Given the description of an element on the screen output the (x, y) to click on. 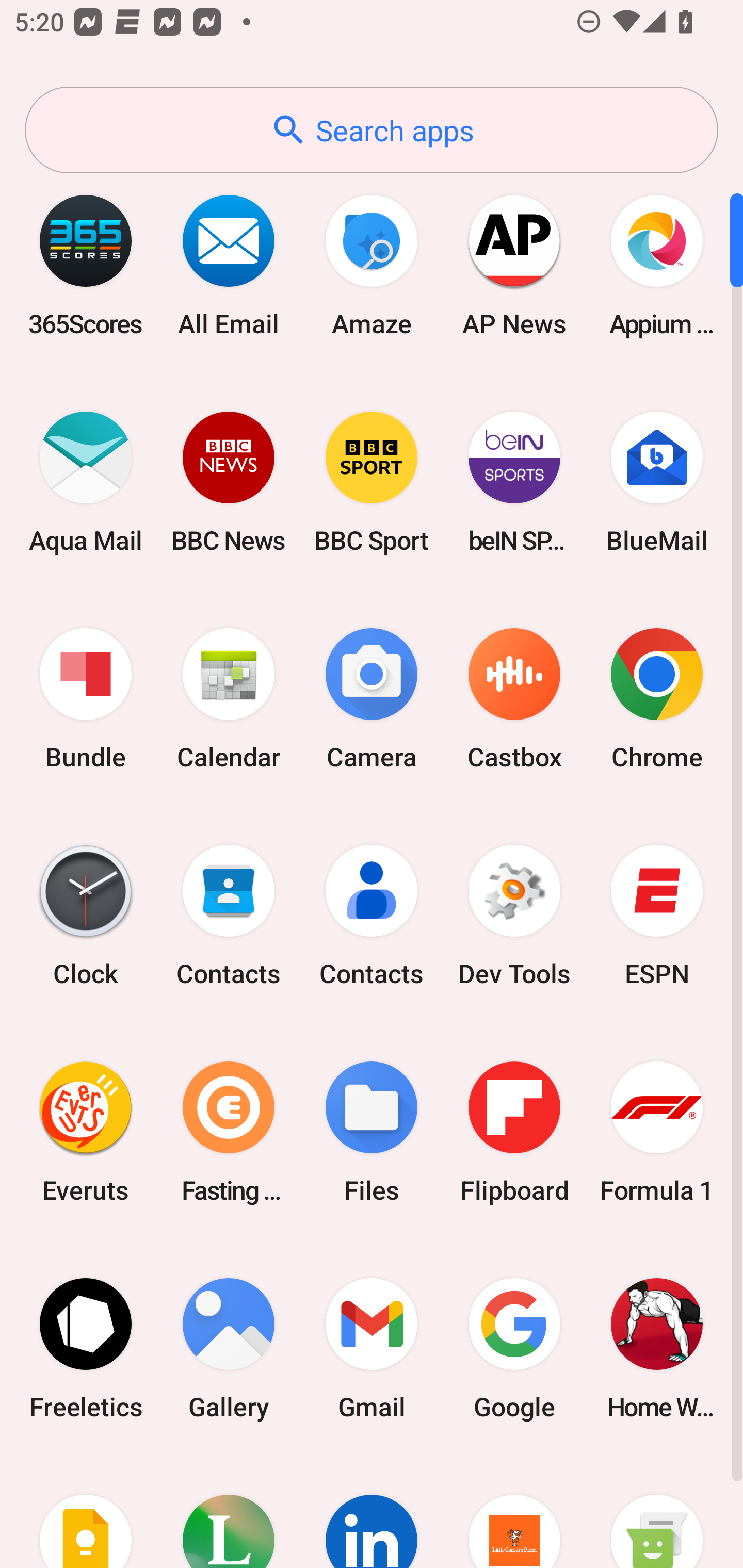
  Search apps (371, 130)
365Scores (85, 264)
All Email (228, 264)
Amaze (371, 264)
AP News (514, 264)
Appium Settings (656, 264)
Aqua Mail (85, 482)
BBC News (228, 482)
BBC Sport (371, 482)
beIN SPORTS (514, 482)
BlueMail (656, 482)
Bundle (85, 699)
Calendar (228, 699)
Camera (371, 699)
Castbox (514, 699)
Chrome (656, 699)
Clock (85, 915)
Contacts (228, 915)
Contacts (371, 915)
Dev Tools (514, 915)
ESPN (656, 915)
Everuts (85, 1131)
Fasting Coach (228, 1131)
Files (371, 1131)
Flipboard (514, 1131)
Formula 1 (656, 1131)
Freeletics (85, 1348)
Gallery (228, 1348)
Gmail (371, 1348)
Google (514, 1348)
Home Workout (656, 1348)
Keep Notes (85, 1512)
Lifesum (228, 1512)
LinkedIn (371, 1512)
Little Caesars Pizza (514, 1512)
Messaging (656, 1512)
